Given the description of an element on the screen output the (x, y) to click on. 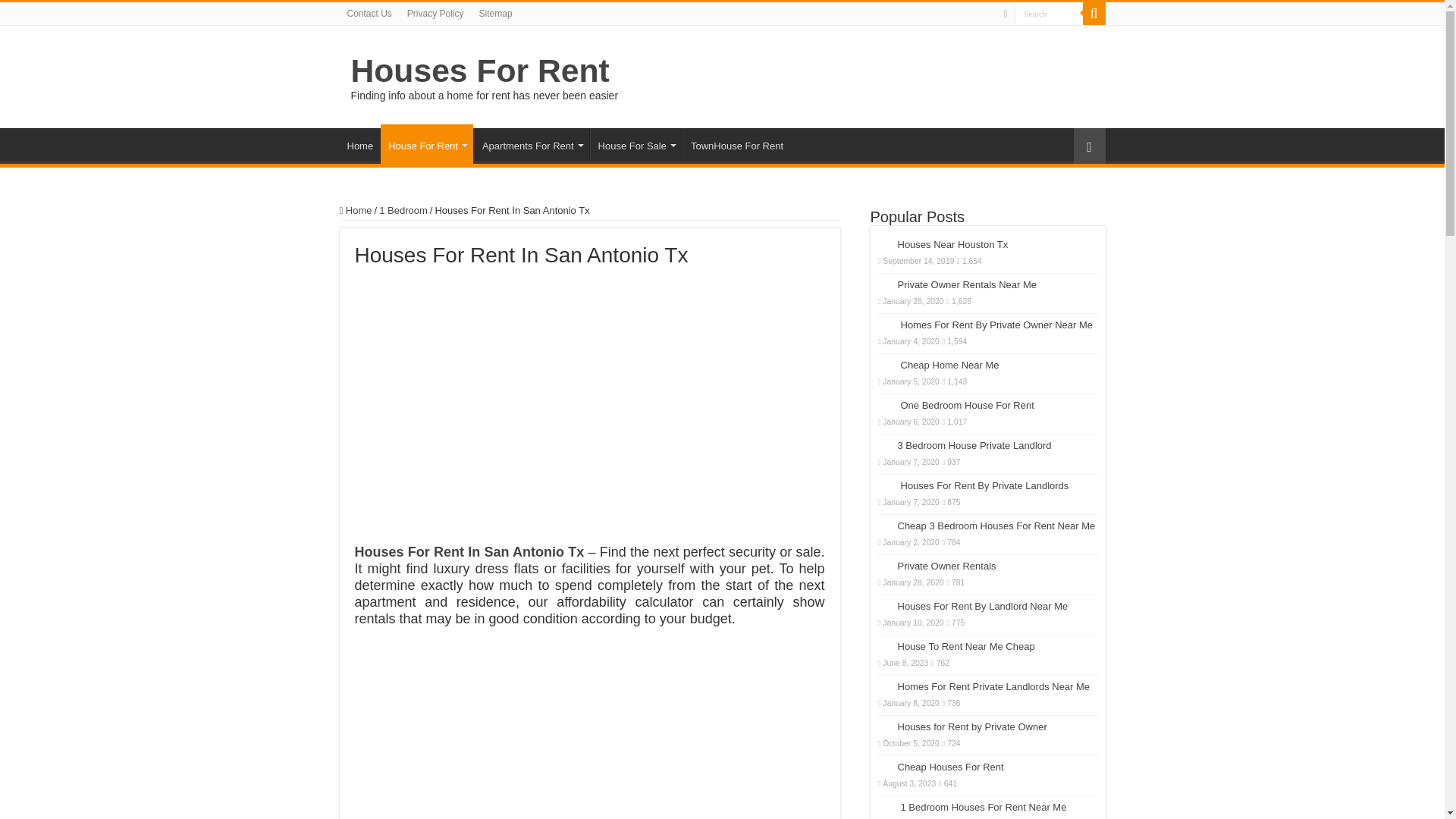
Search (1048, 13)
Search (1048, 13)
House For Sale (635, 143)
Search (1048, 13)
Search (1094, 13)
1 Bedroom (403, 210)
Privacy Policy (434, 13)
House For Rent (426, 143)
TownHouse For Rent (736, 143)
Apartments For Rent (531, 143)
